Given the description of an element on the screen output the (x, y) to click on. 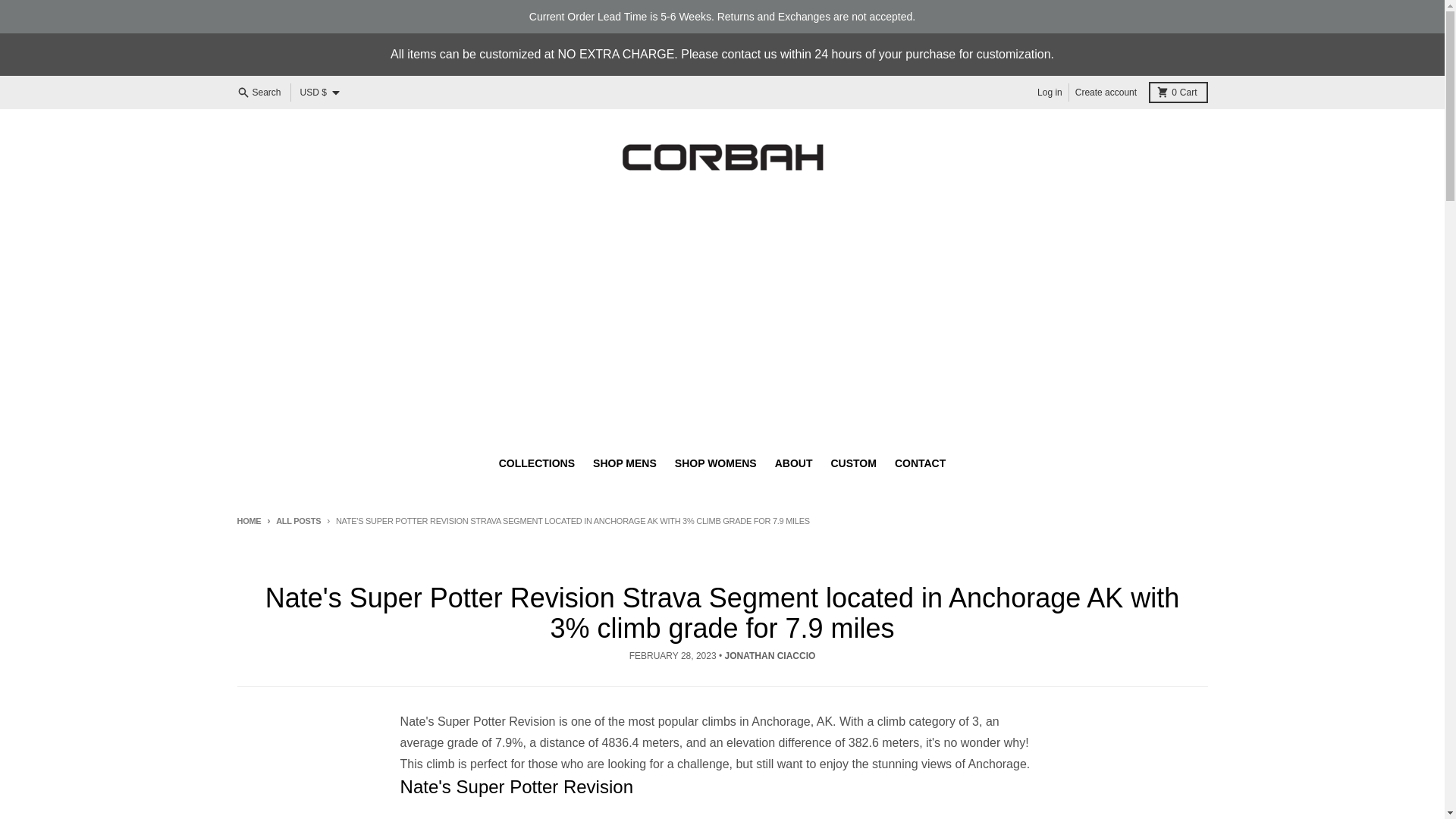
CONTACT (920, 462)
SHOP WOMENS (715, 462)
HOME (247, 520)
Back to the homepage (247, 520)
Log in (1049, 92)
CUSTOM (853, 462)
Create account (1105, 92)
COLLECTIONS (1177, 92)
